Given the description of an element on the screen output the (x, y) to click on. 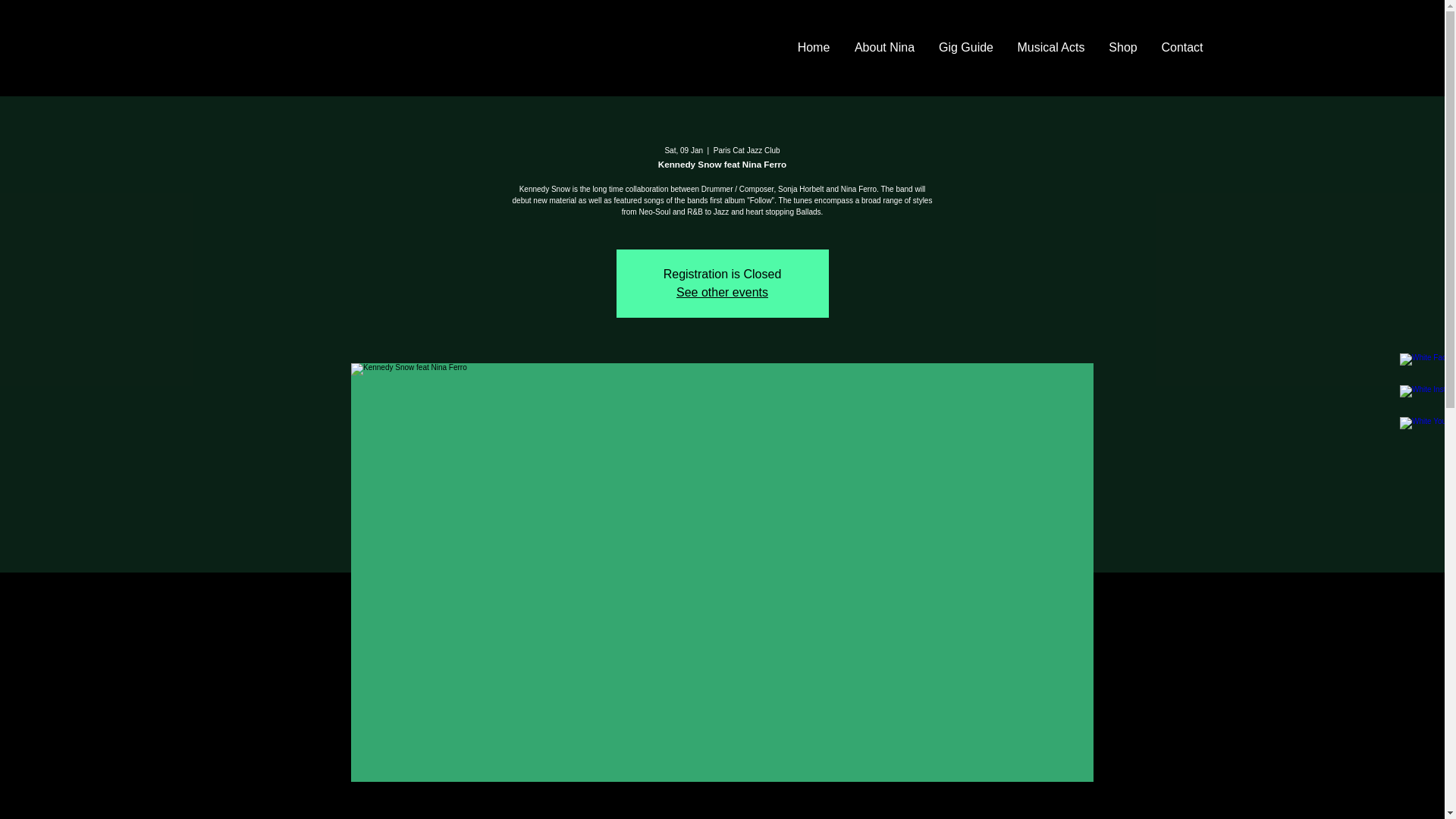
Contact (1182, 47)
Gig Guide (965, 47)
About Nina (883, 47)
Musical Acts (1051, 47)
Home (814, 47)
See other events (722, 291)
Shop (1122, 47)
